Given the description of an element on the screen output the (x, y) to click on. 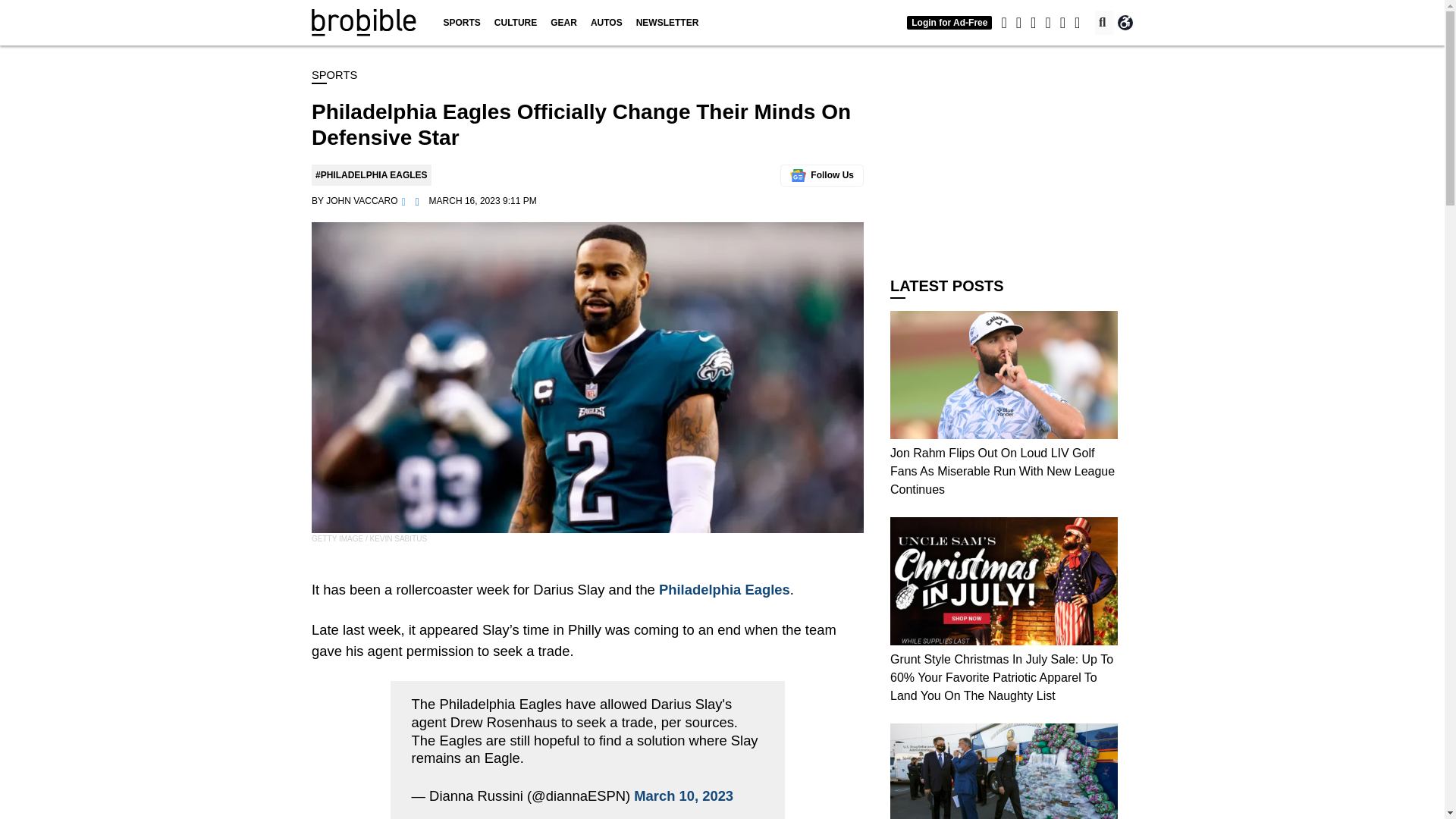
SPORTS (460, 22)
CULTURE (515, 22)
Follow us on Google News (821, 175)
Posts by John Vaccaro (361, 200)
Login for Ad-Free (949, 22)
Accessibility (1125, 22)
